Given the description of an element on the screen output the (x, y) to click on. 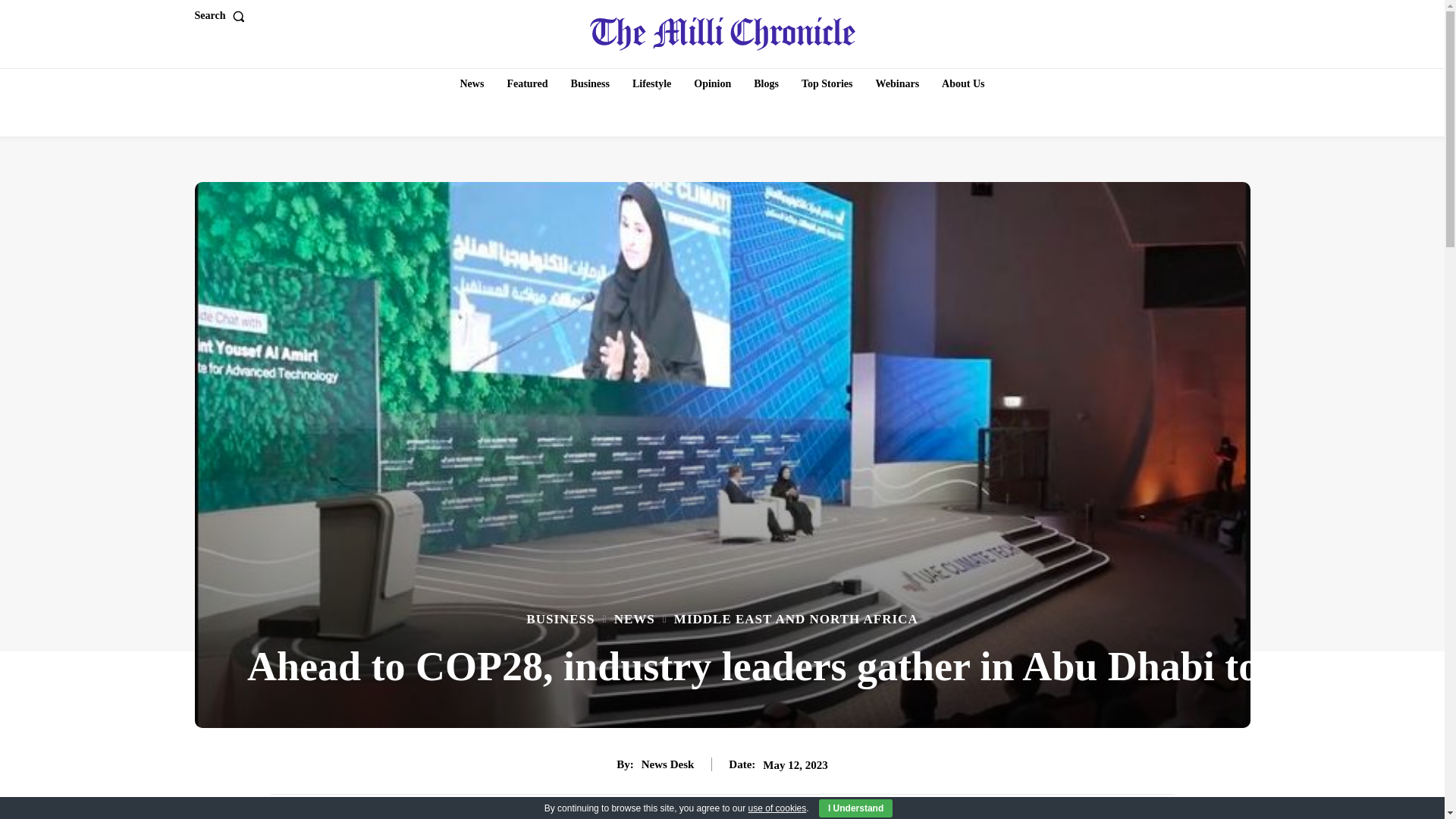
Business (590, 83)
Featured (526, 83)
News (471, 83)
Lifestyle (651, 83)
Search (221, 15)
